Given the description of an element on the screen output the (x, y) to click on. 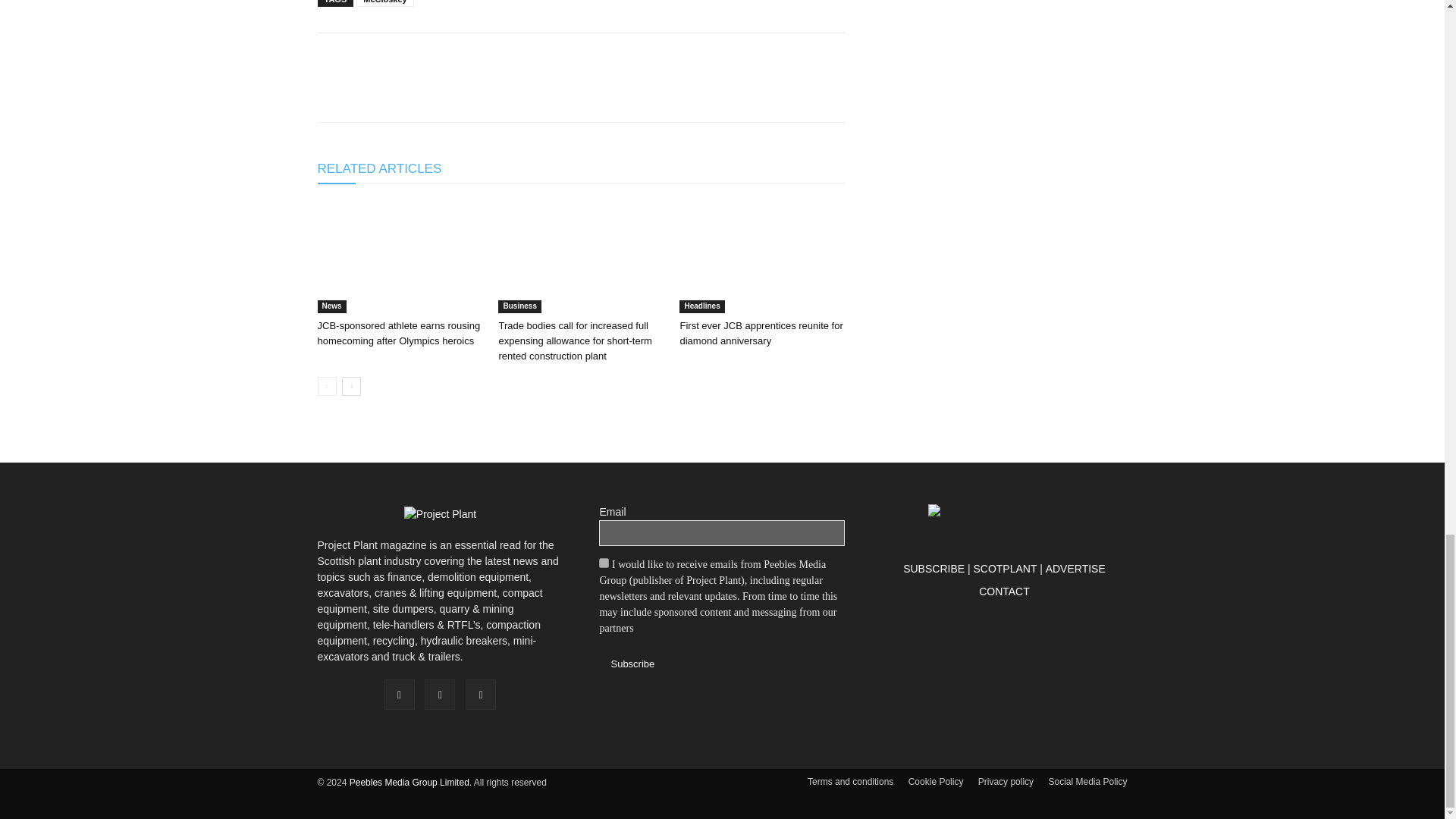
bottomFacebookLike (430, 57)
Subscribe (631, 663)
McCloskey (384, 3)
on (603, 562)
